Given the description of an element on the screen output the (x, y) to click on. 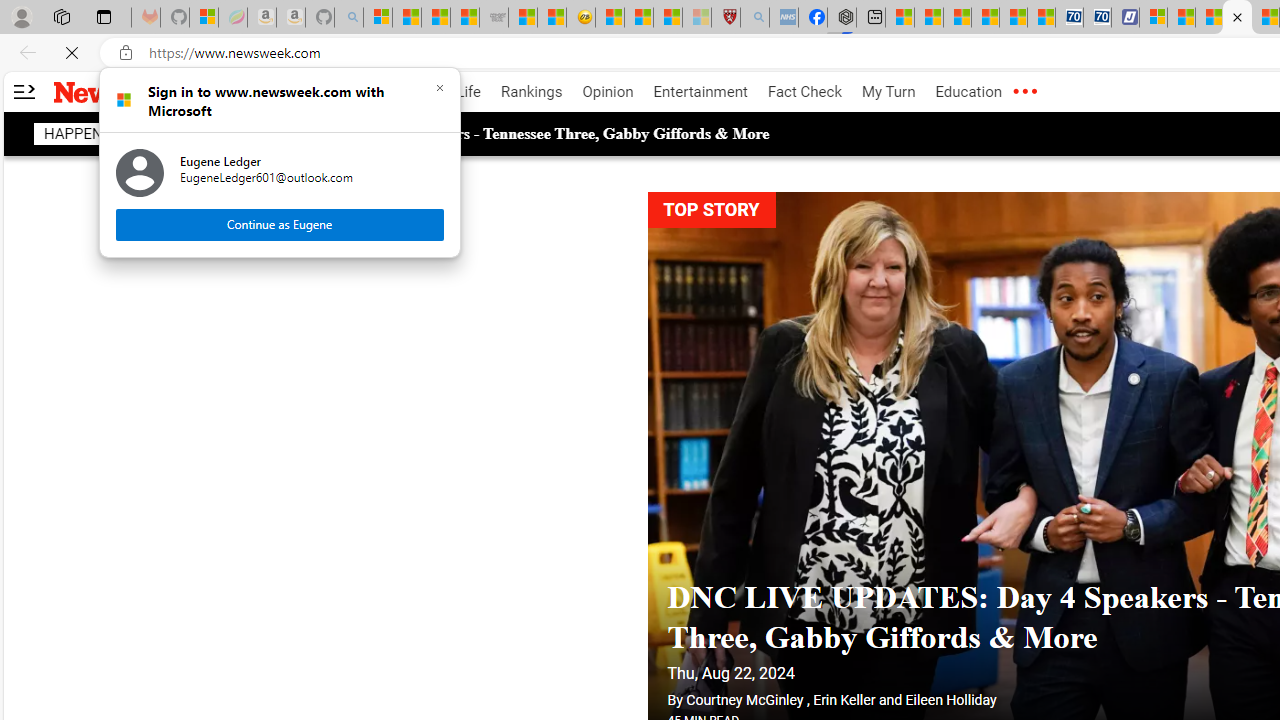
Stocks - MSN (464, 17)
NCL Adult Asthma Inhaler Choice Guideline - Sleeping (783, 17)
Entertainment (699, 92)
12 Popular Science Lies that Must be Corrected - Sleeping (696, 17)
Science - MSN (668, 17)
list of asthma inhalers uk - Search - Sleeping (755, 17)
By Courtney McGinley (734, 660)
AutomationID: side-arrow (23, 92)
MSNBC - MSN (436, 17)
